Given the description of an element on the screen output the (x, y) to click on. 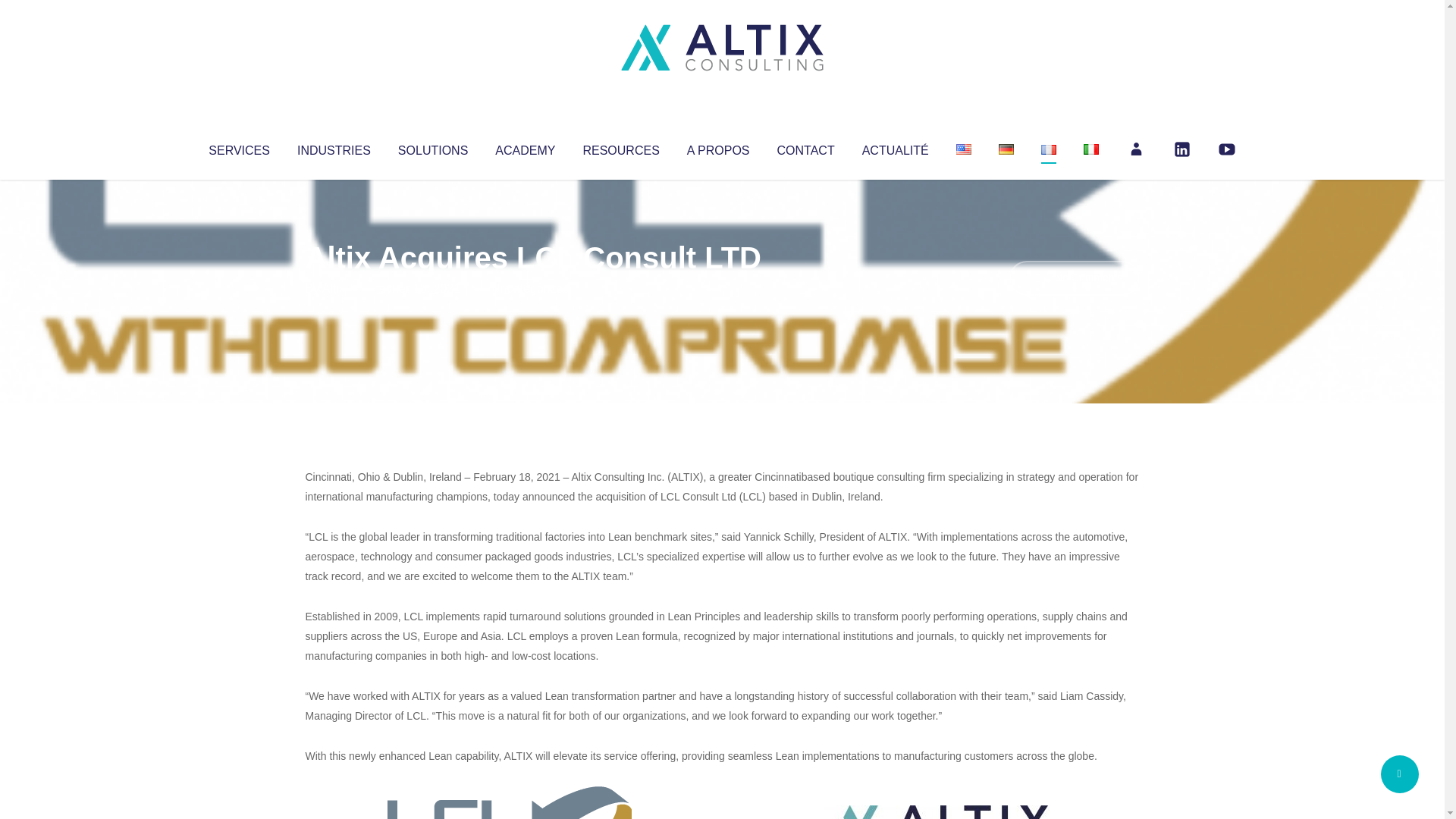
Altix (333, 287)
SOLUTIONS (432, 146)
ACADEMY (524, 146)
INDUSTRIES (334, 146)
Articles par Altix (333, 287)
SERVICES (238, 146)
A PROPOS (718, 146)
RESOURCES (620, 146)
No Comments (1073, 278)
Uncategorized (530, 287)
